Given the description of an element on the screen output the (x, y) to click on. 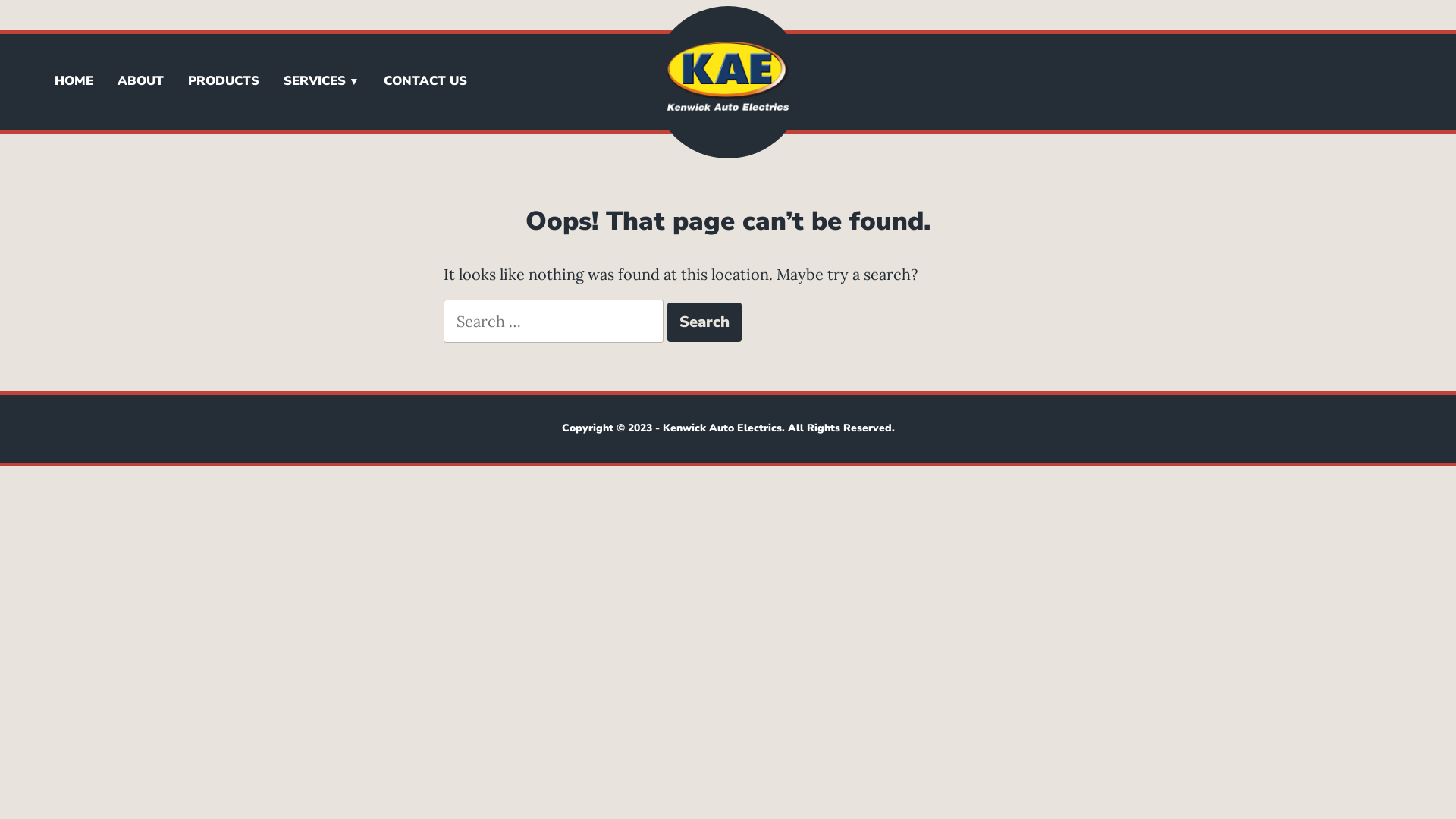
Search Element type: text (704, 322)
CONTACT US Element type: text (425, 82)
HOME Element type: text (73, 82)
PRODUCTS Element type: text (223, 82)
SERVICES Element type: text (321, 82)
Kenwick Auto Electrics Element type: text (652, 135)
ABOUT Element type: text (140, 82)
